Given the description of an element on the screen output the (x, y) to click on. 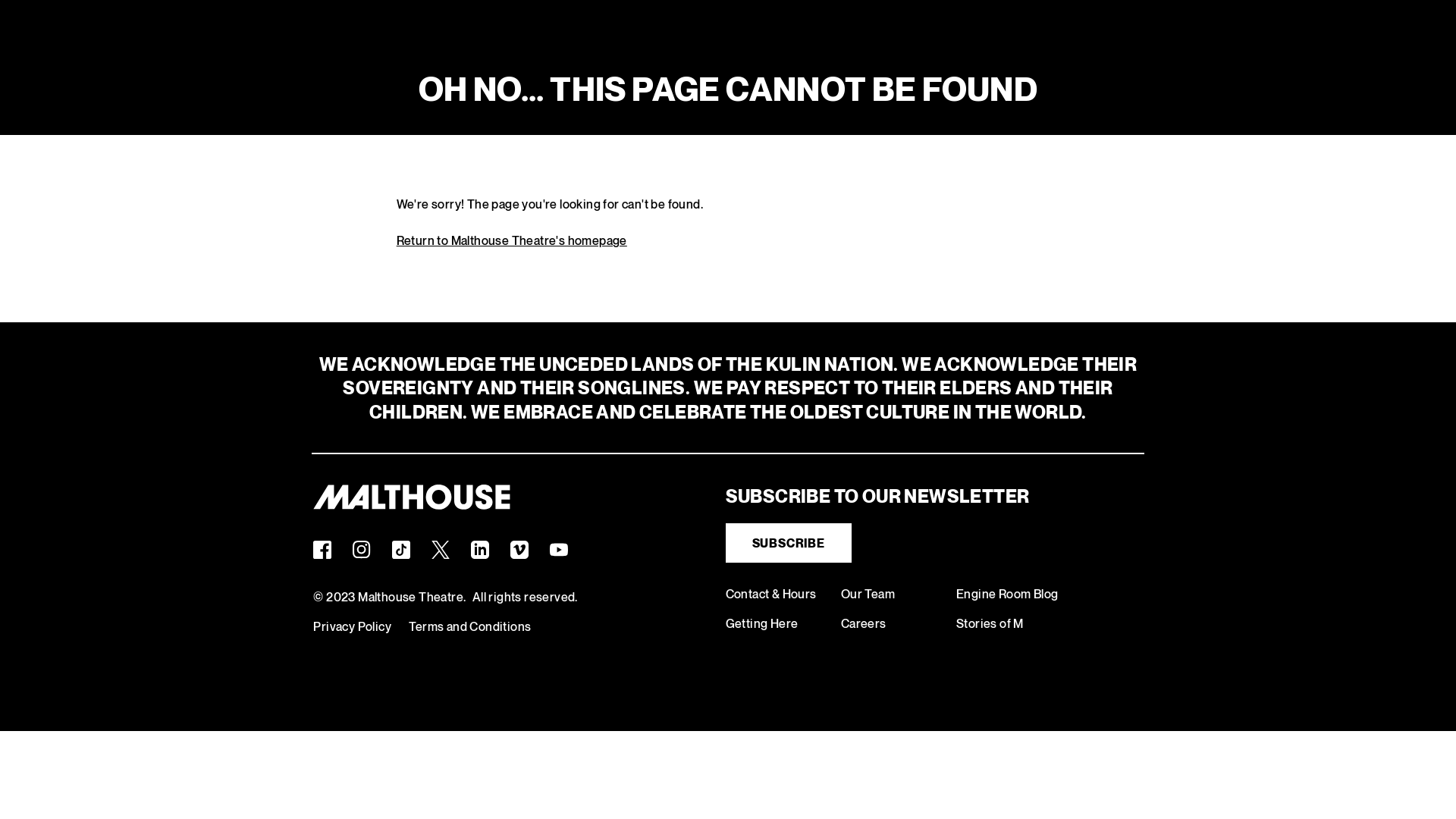
Our Team Element type: text (867, 593)
Twitter icon Element type: text (440, 548)
Terms and Conditions Element type: text (469, 626)
LinkedIn icon Element type: text (479, 548)
Tik Tok icon Element type: text (401, 548)
Engine Room Blog Element type: text (1006, 593)
Privacy Policy Element type: text (352, 626)
Careers Element type: text (863, 623)
Getting Here Element type: text (761, 623)
YouTube icon Element type: text (558, 548)
SUBSCRIBE Element type: text (788, 542)
Contact & Hours Element type: text (770, 593)
Return to Malthouse Theatre's homepage Element type: text (511, 240)
Stories of M Element type: text (989, 623)
Facebook icon Element type: text (322, 548)
Instagram icon Element type: text (361, 548)
Vimeo icon Element type: text (519, 548)
